Given the description of an element on the screen output the (x, y) to click on. 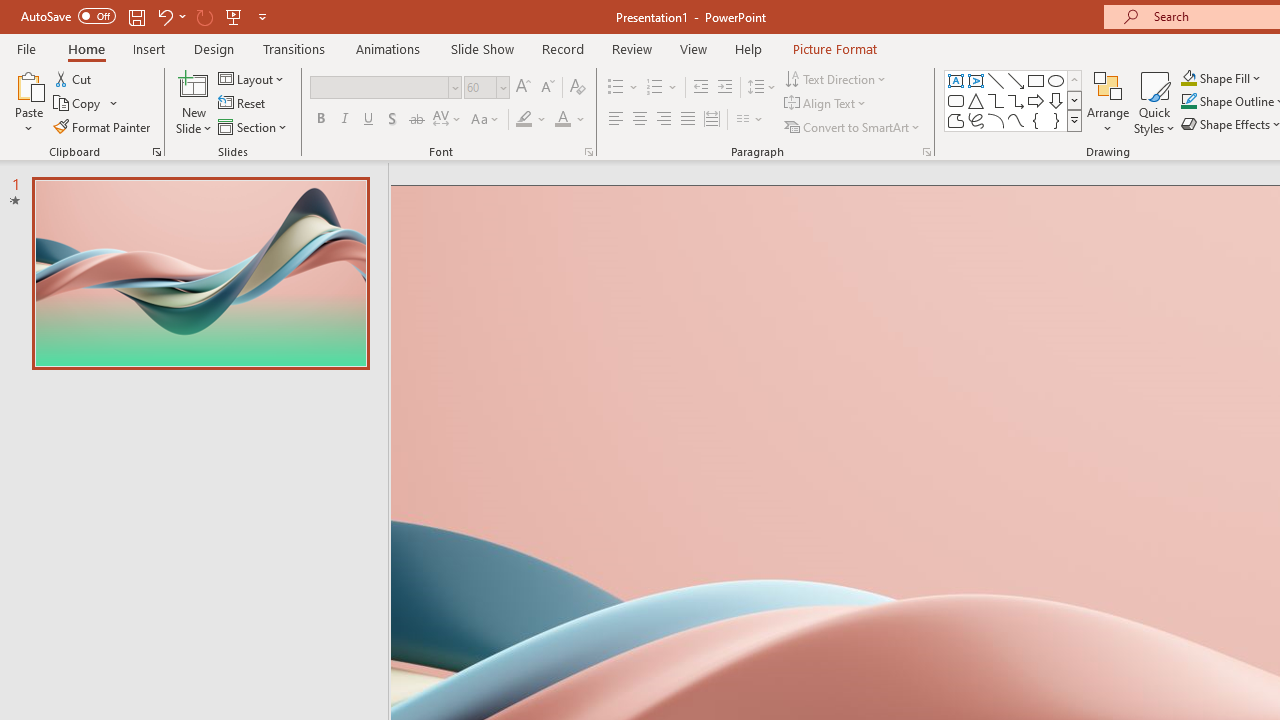
Picture Format (834, 48)
